Given the description of an element on the screen output the (x, y) to click on. 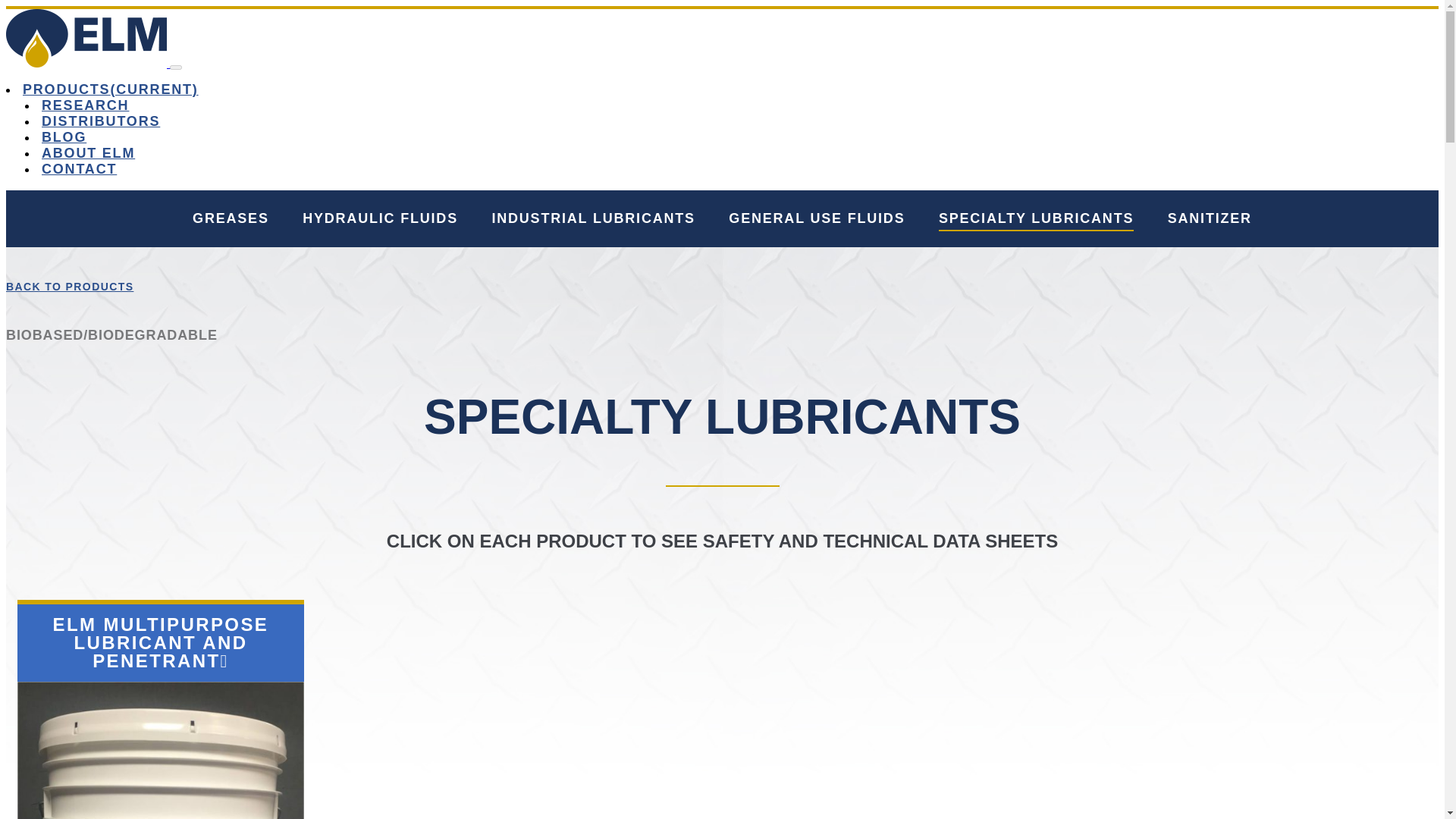
ELM MULTIPURPOSE LUBRICANT AND PENETRANT (160, 642)
GENERAL USE FLUIDS (816, 220)
GREASES (230, 220)
INDUSTRIAL LUBRICANTS (593, 220)
BACK TO PRODUCTS (69, 286)
SANITIZER (1209, 220)
SPECIALTY LUBRICANTS (1036, 220)
HYDRAULIC FLUIDS (380, 220)
